Given the description of an element on the screen output the (x, y) to click on. 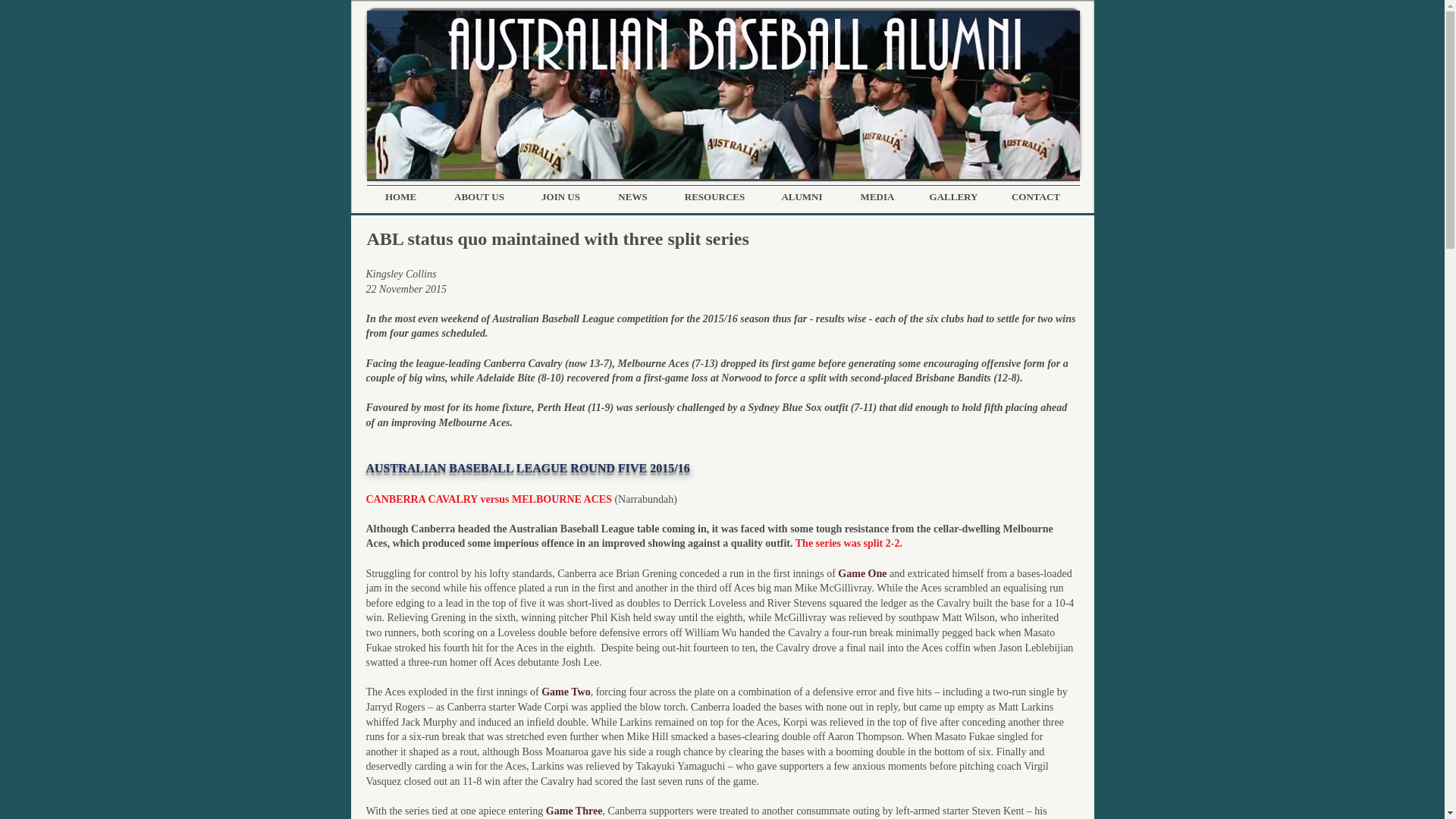
RESOURCES (714, 196)
NEWS (632, 196)
ABOUT US (478, 196)
thunder8.jpg (723, 94)
JOIN US (560, 196)
ALUMNI (801, 196)
HOME (400, 196)
